Given the description of an element on the screen output the (x, y) to click on. 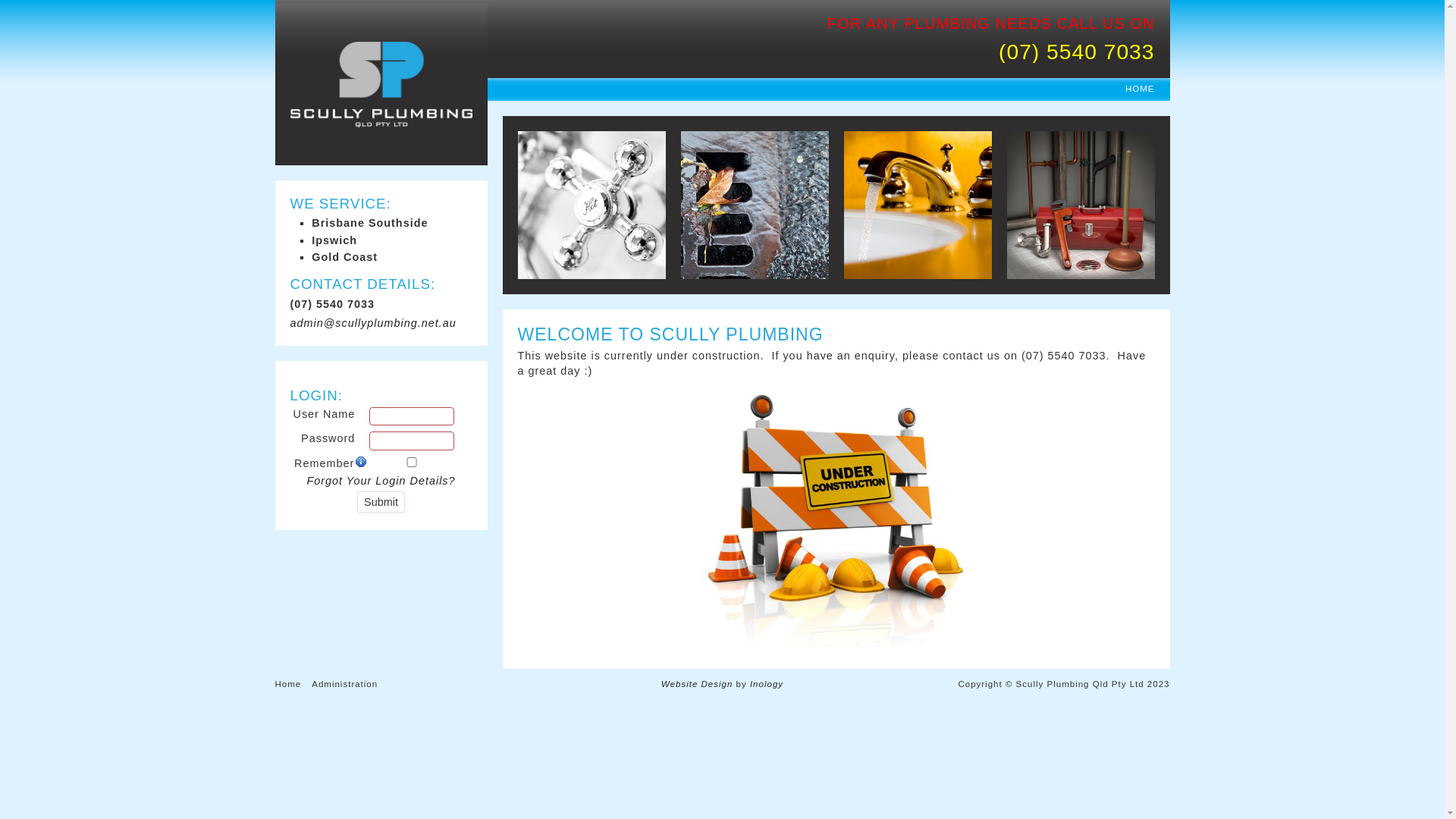
Home Element type: text (287, 683)
Website Design Element type: text (696, 683)
Inology Element type: text (766, 683)
Submit Element type: text (380, 501)
Press submit to continue. Element type: hover (380, 501)
HOME Element type: text (1139, 88)
Administration Element type: text (344, 683)
admin@scullyplumbing.net.au Element type: text (380, 323)
Forgot Your Login Details? Element type: text (380, 480)
